Given the description of an element on the screen output the (x, y) to click on. 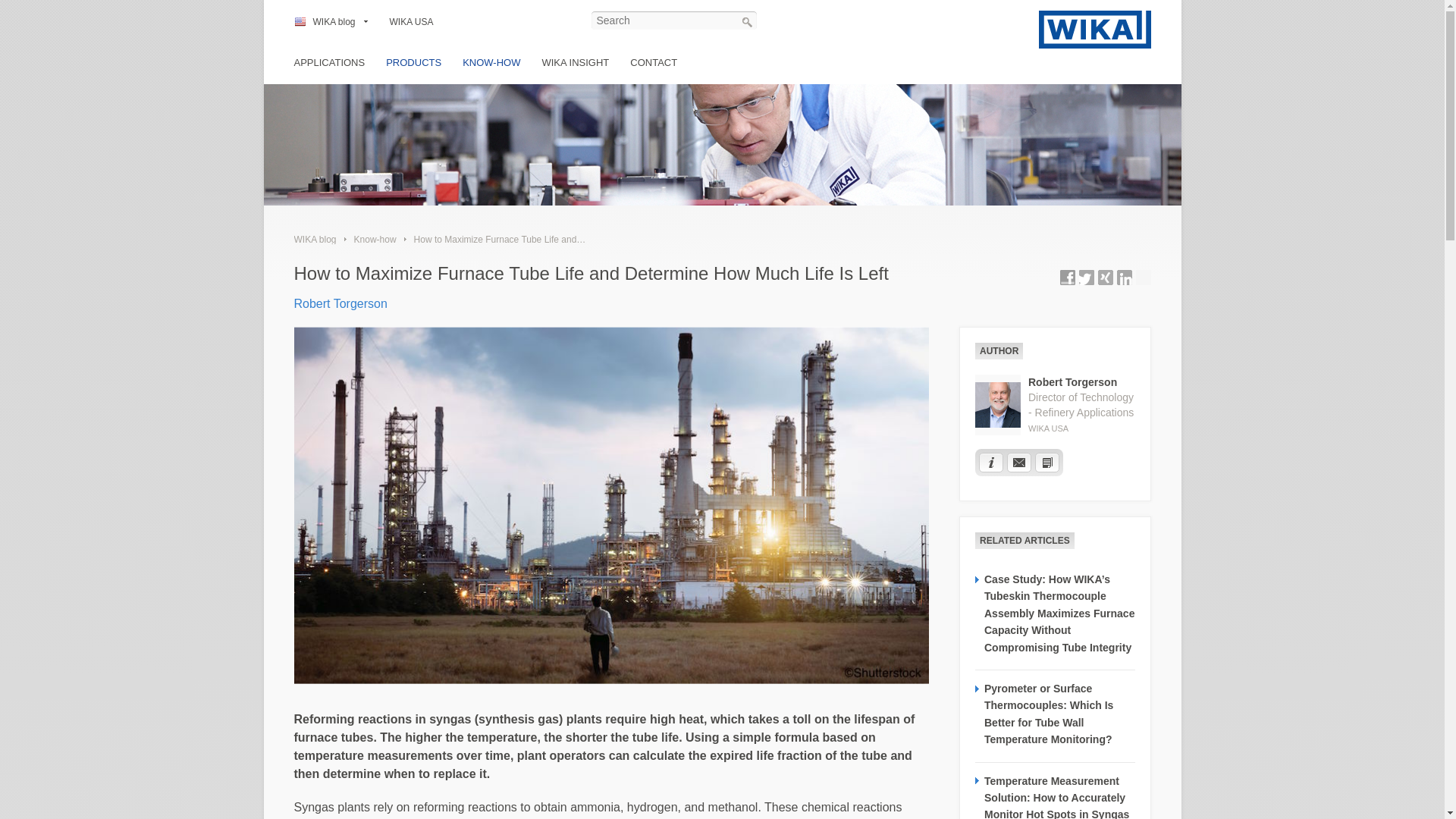
Search (746, 22)
Overview Articles by Robert Torgerson (1047, 462)
share (1067, 277)
share (1123, 277)
share (1105, 277)
Send Page URL (1143, 277)
Contact Robert Torgerson (1018, 462)
WIKA blog (330, 21)
share (1085, 277)
